Given the description of an element on the screen output the (x, y) to click on. 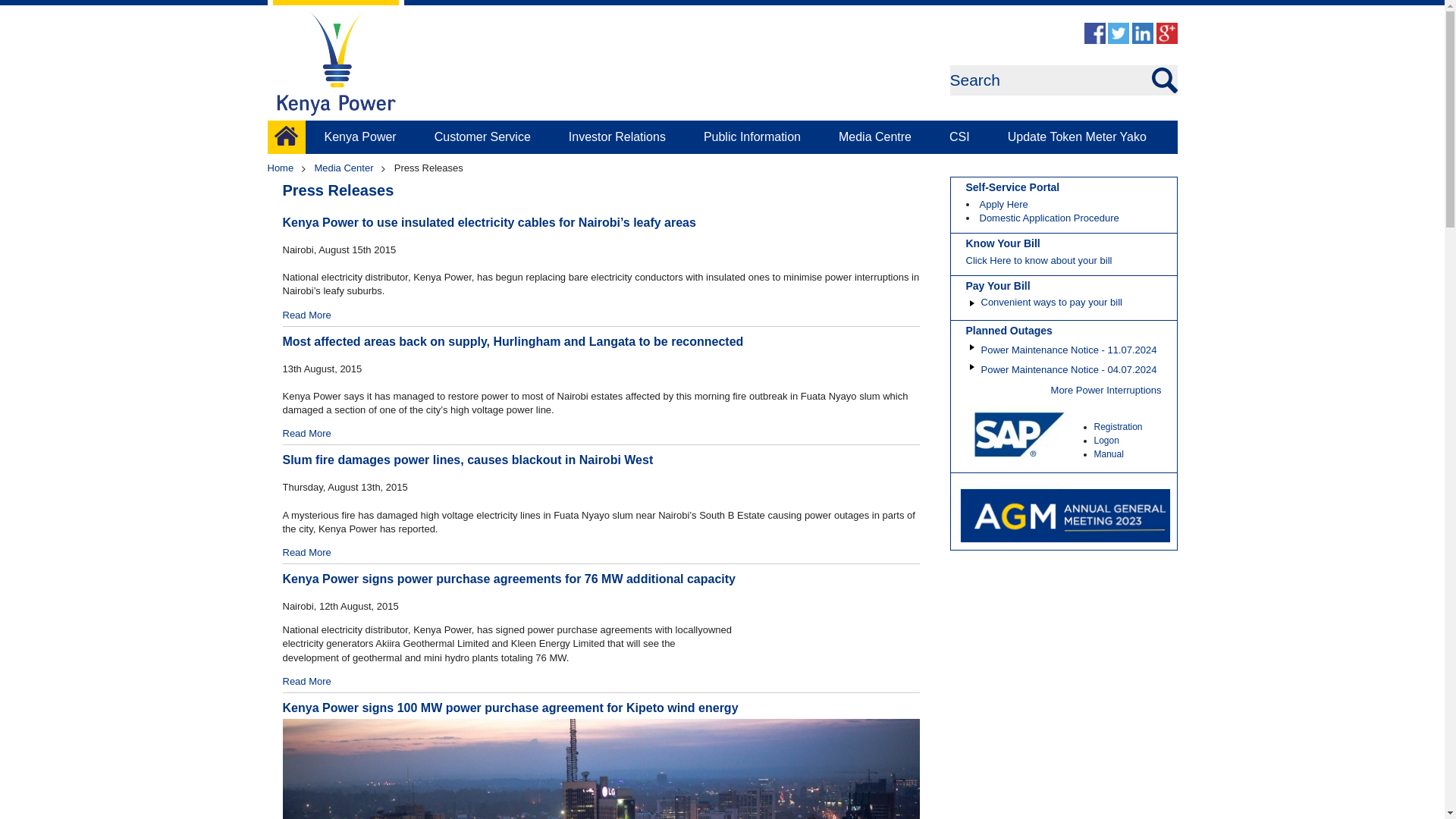
SEARCH (32, 10)
kplc.co.ke (334, 58)
Kenya Power (359, 136)
Investor Relations (617, 136)
Public Information (751, 136)
Home (285, 136)
Customer Service (482, 136)
